Given the description of an element on the screen output the (x, y) to click on. 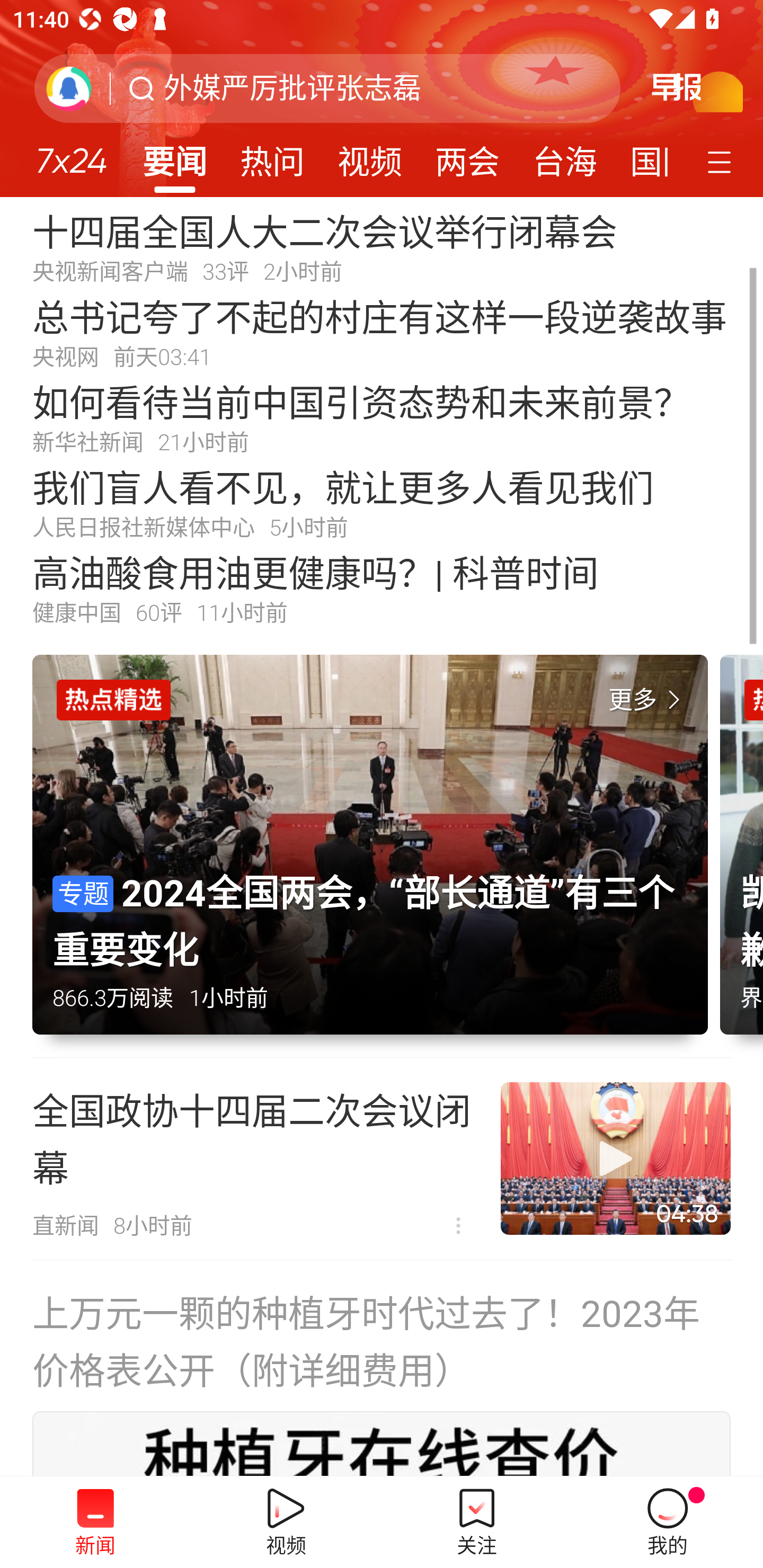
早晚报 (691, 84)
刷新 (68, 88)
外媒严厉批评张志磊 (292, 88)
7x24 (70, 154)
要闻 (174, 155)
热问 (272, 155)
视频 (369, 155)
两会 (466, 155)
台海 (564, 155)
 定制频道 (721, 160)
十四届全国人大二次会议举行闭幕会 央视新闻客户端 33评 2小时前 (381, 245)
总书记夸了不起的村庄有这样一段逆袭故事 央视网 前天03:41 (381, 331)
如何看待当前中国引资态势和未来前景？ 新华社新闻 21小时前 (381, 416)
我们盲人看不见，就让更多人看见我们 人民日报社新媒体中心 5小时前 (381, 502)
高油酸食用油更健康吗？| 科普时间 健康中国 60评 11小时前 (381, 587)
更多  专题2024全国两会，“部长通道”有三个重要变化 866.3万阅读   1小时前 (376, 855)
更多  (648, 699)
全国政协十四届二次会议闭幕 直新闻 8小时前  不感兴趣 04:38 (381, 1158)
 不感兴趣 (458, 1226)
上万元一颗的种植牙时代过去了！2023年价格表公开（附详细费用） (381, 1339)
